Given the description of an element on the screen output the (x, y) to click on. 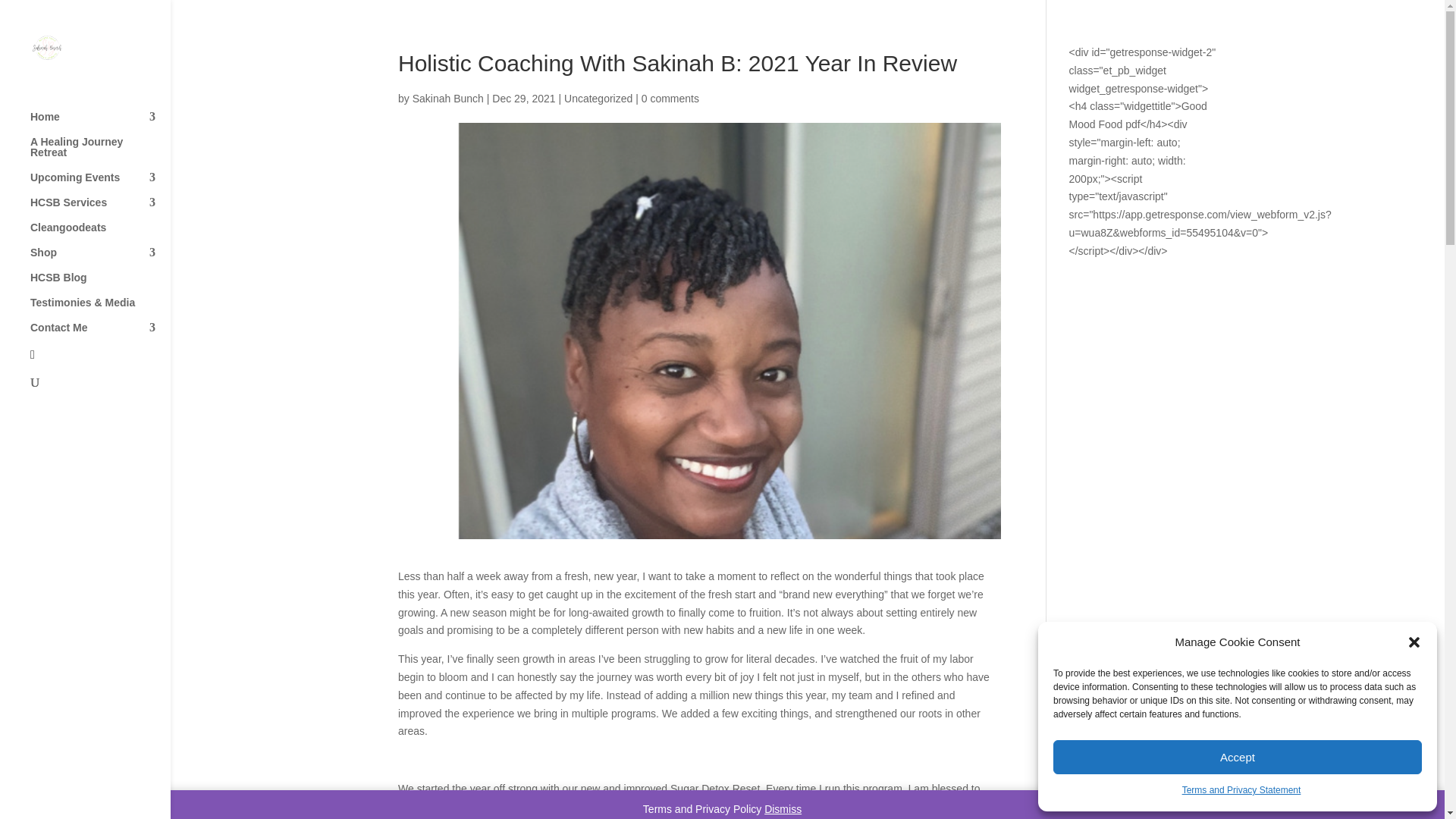
HCSB Blog (100, 284)
Terms and Privacy Statement (1241, 791)
Home (100, 123)
Cleangoodeats (100, 234)
Posts by Sakinah Bunch (447, 98)
HCSB Services (100, 209)
Shop (100, 259)
A Healing Journey Retreat (100, 153)
Upcoming Events (100, 184)
Contact Me (100, 334)
Accept (1237, 756)
